Given the description of an element on the screen output the (x, y) to click on. 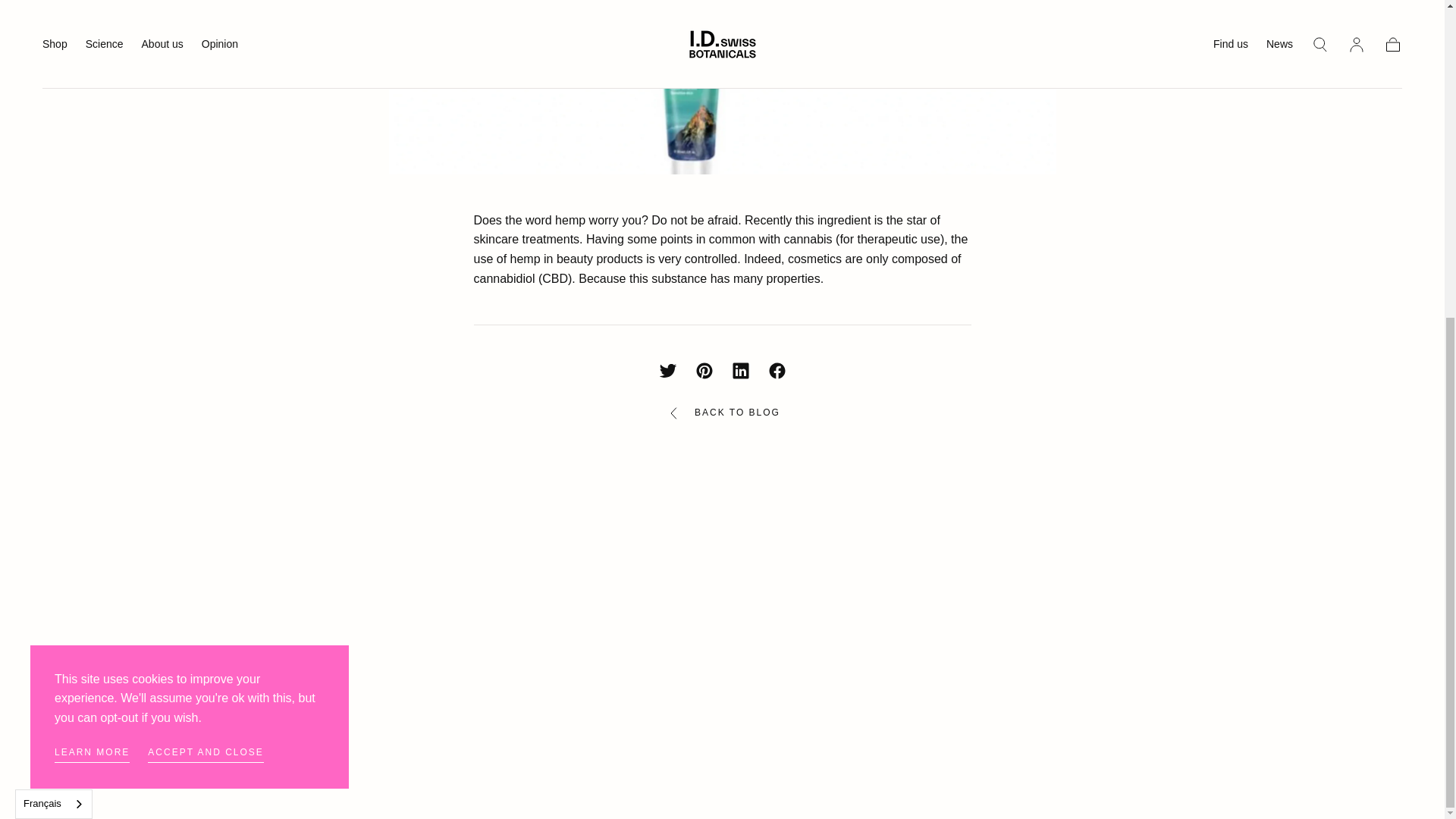
BACK TO BLOG (721, 413)
LEARN MORE (92, 242)
ACCEPT AND CLOSE (205, 242)
